Given the description of an element on the screen output the (x, y) to click on. 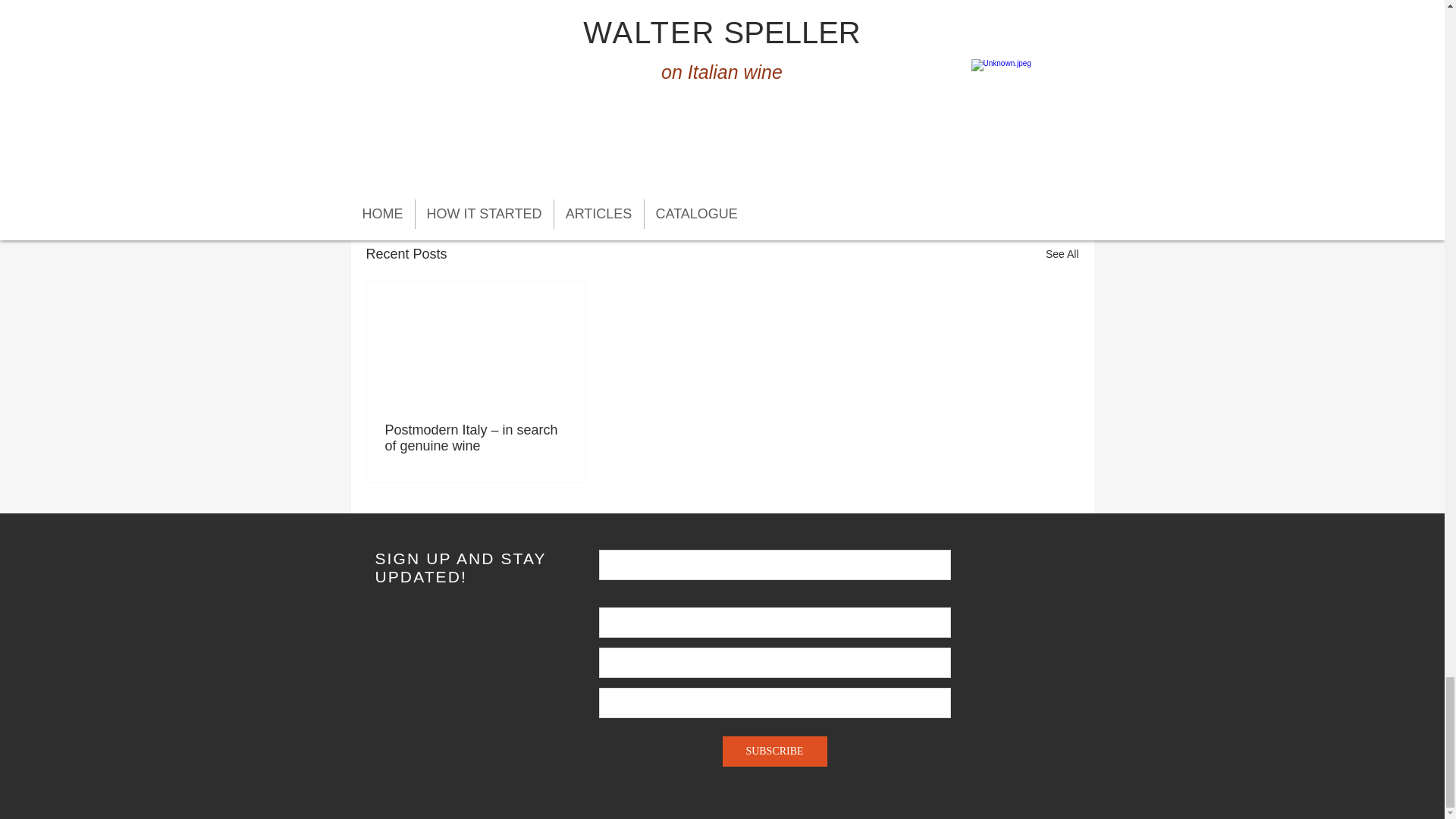
SUBSCRIBE (774, 751)
See All (1061, 254)
Coming to Schiava's Rescue (518, 43)
